Given the description of an element on the screen output the (x, y) to click on. 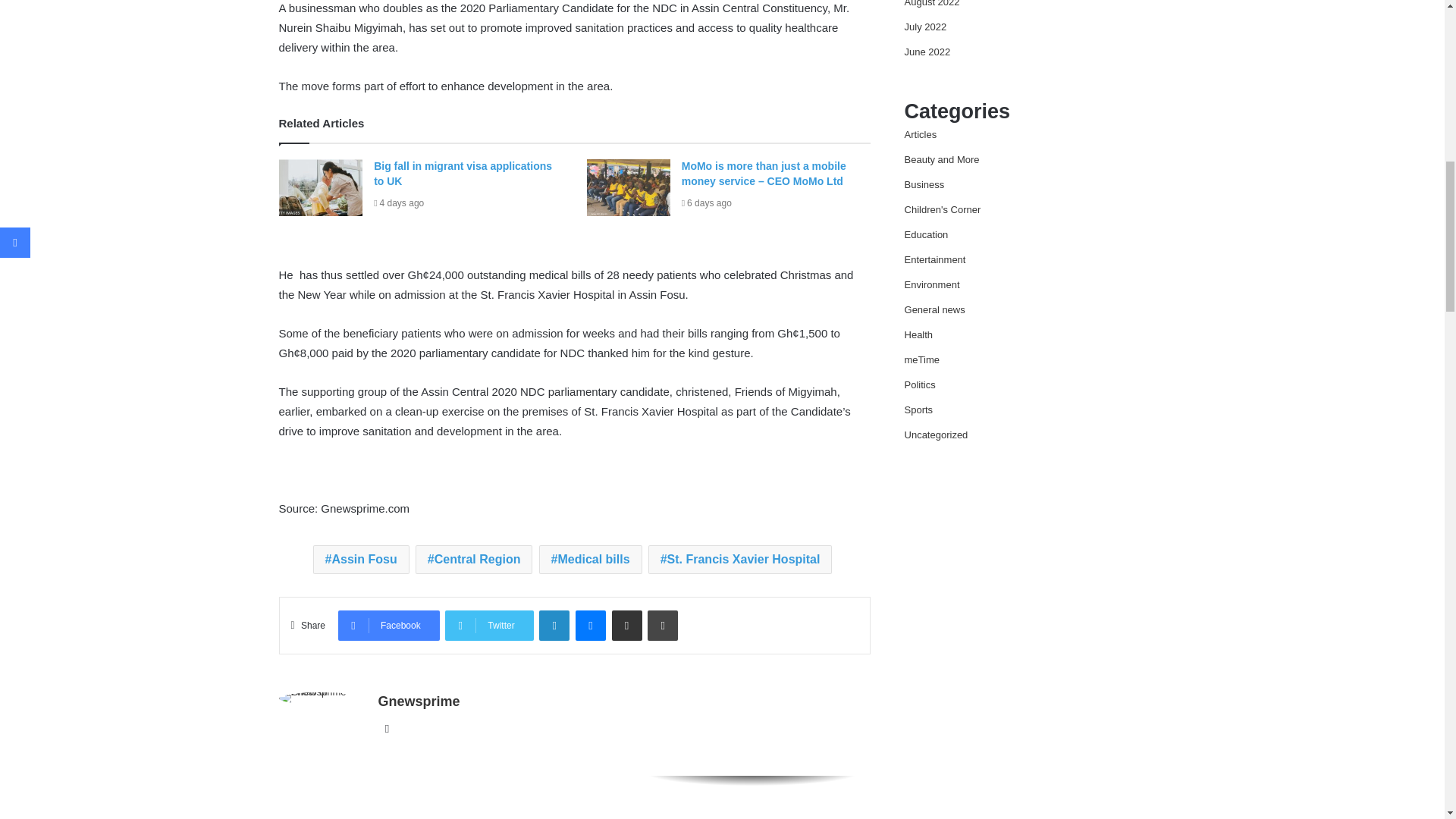
Share via Email (626, 625)
Twitter (488, 625)
LinkedIn (553, 625)
Facebook (388, 625)
Assin Fosu (361, 559)
Twitter (488, 625)
Central Region (473, 559)
LinkedIn (553, 625)
Big fall in migrant visa applications to UK (462, 173)
Messenger (590, 625)
